Given the description of an element on the screen output the (x, y) to click on. 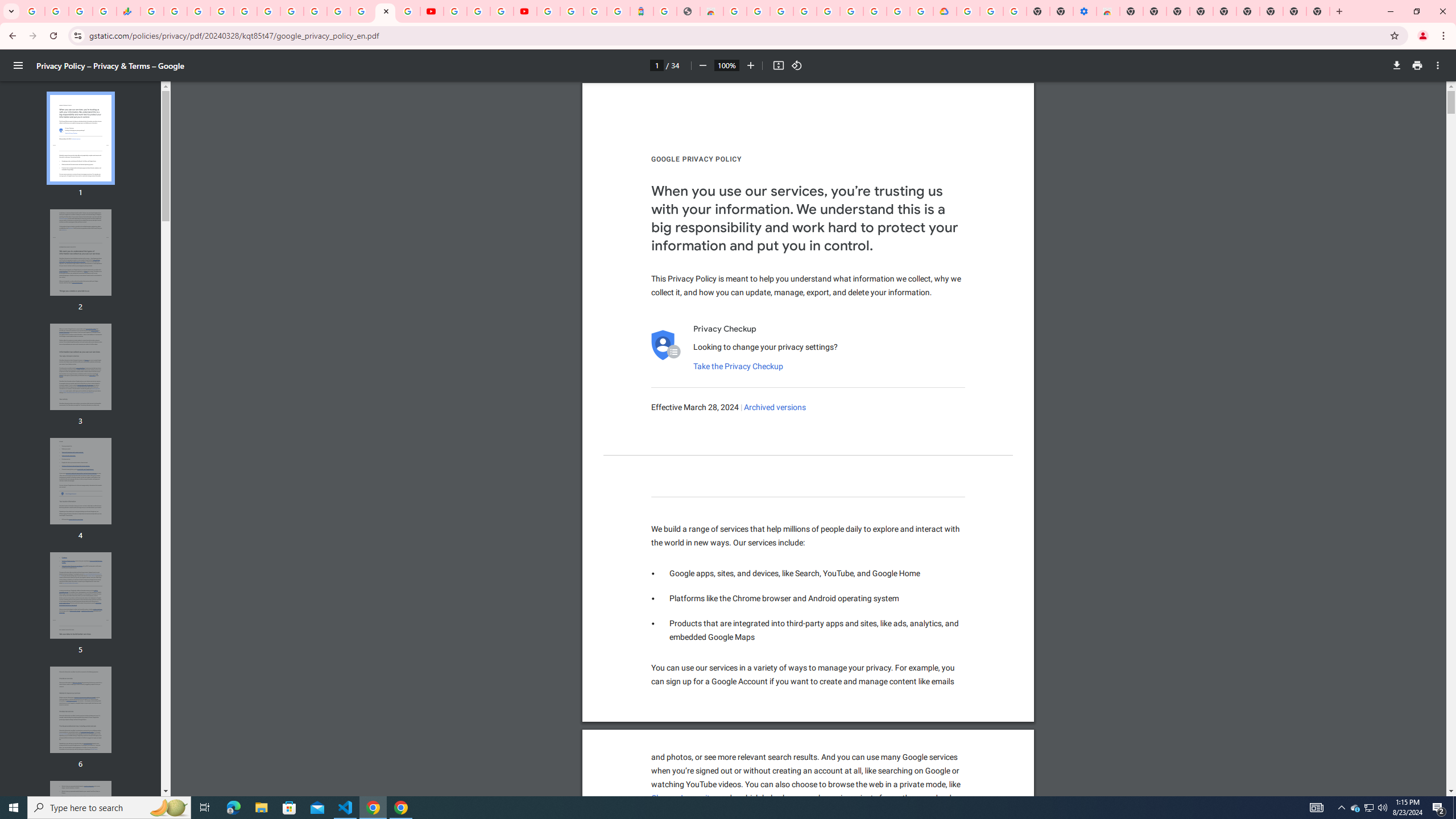
Sign in - Google Accounts (827, 11)
Create your Google Account (757, 11)
YouTube (431, 11)
Google Workspace Admin Community (32, 11)
Settings - Accessibility (1085, 11)
Rotate counterclockwise (796, 65)
Google Account Help (992, 11)
YouTube (454, 11)
More actions (1437, 65)
